Given the description of an element on the screen output the (x, y) to click on. 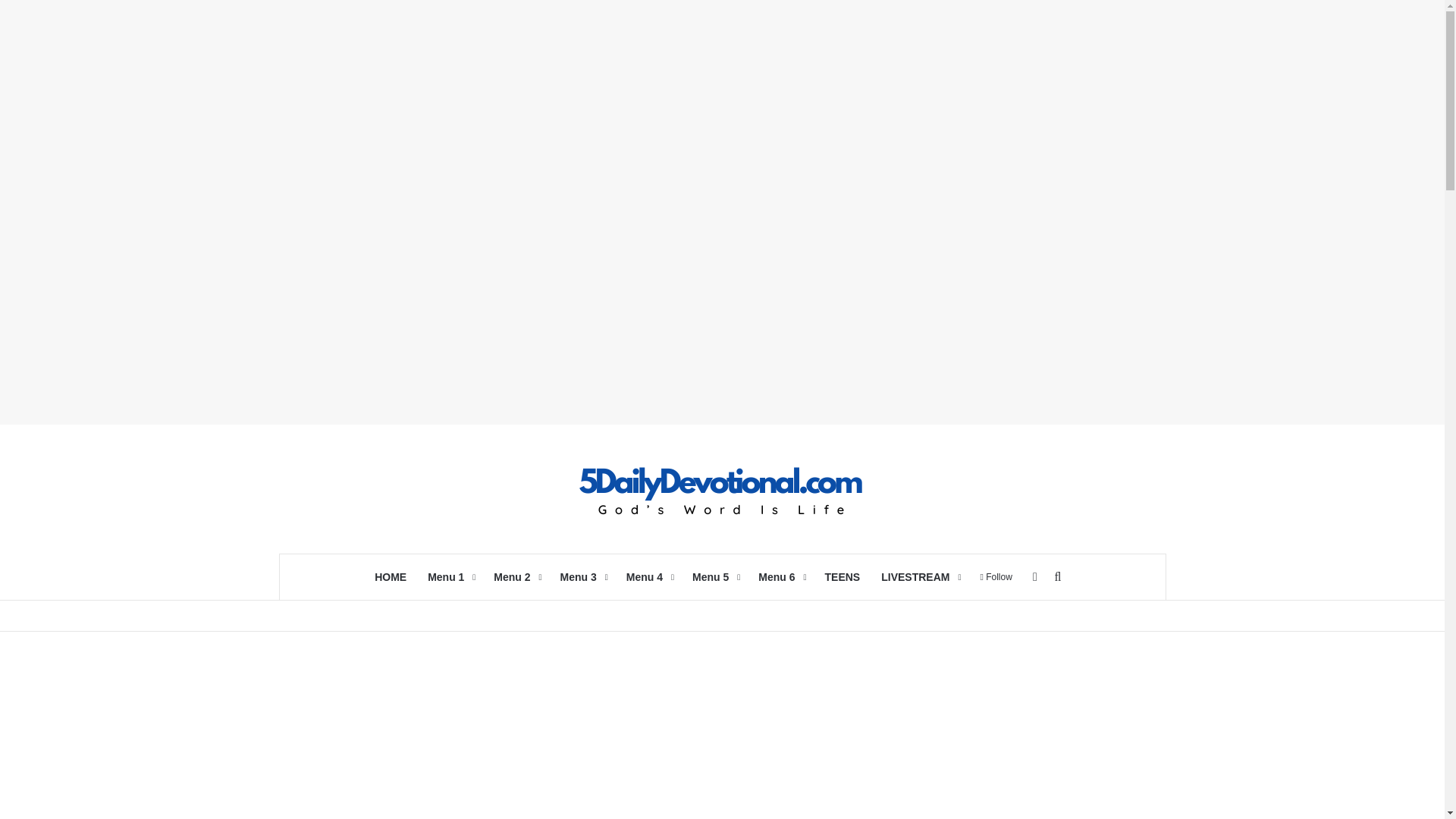
Menu 5 (714, 576)
HOME (390, 576)
Menu 2 (515, 576)
Menu 1 (449, 576)
Menu 3 (582, 576)
5DailyDevotional.Com (721, 488)
Menu 4 (648, 576)
